Given the description of an element on the screen output the (x, y) to click on. 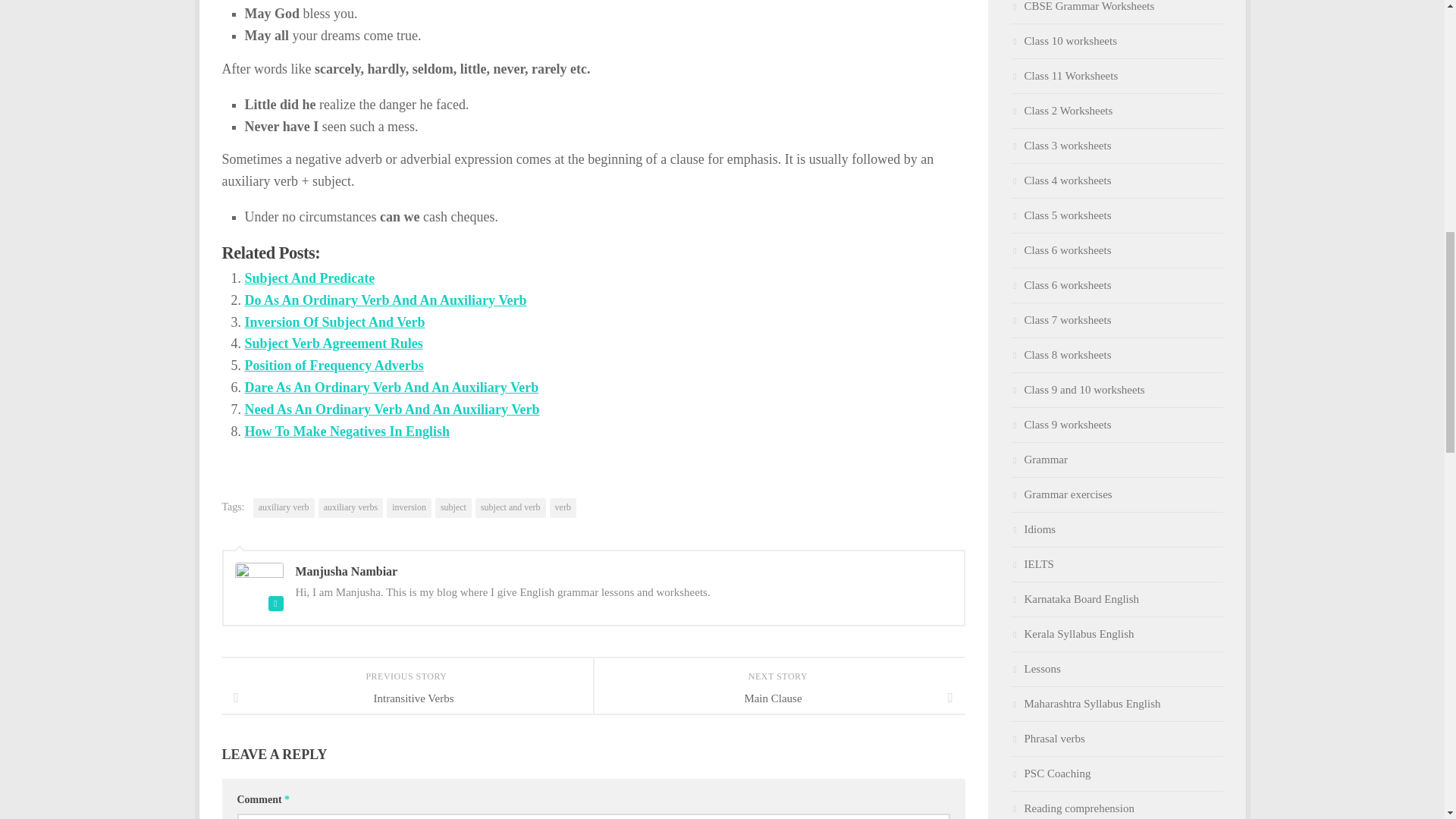
Position of Frequency Adverbs (333, 365)
Do As An Ordinary Verb And An Auxiliary Verb (384, 299)
Need As An Ordinary Verb And An Auxiliary Verb (391, 409)
Inversion Of Subject And Verb (334, 322)
Subject And Predicate (309, 278)
Dare As An Ordinary Verb And An Auxiliary Verb (391, 387)
Subject Verb Agreement Rules (333, 343)
How To Make Negatives In English (346, 431)
